Given the description of an element on the screen output the (x, y) to click on. 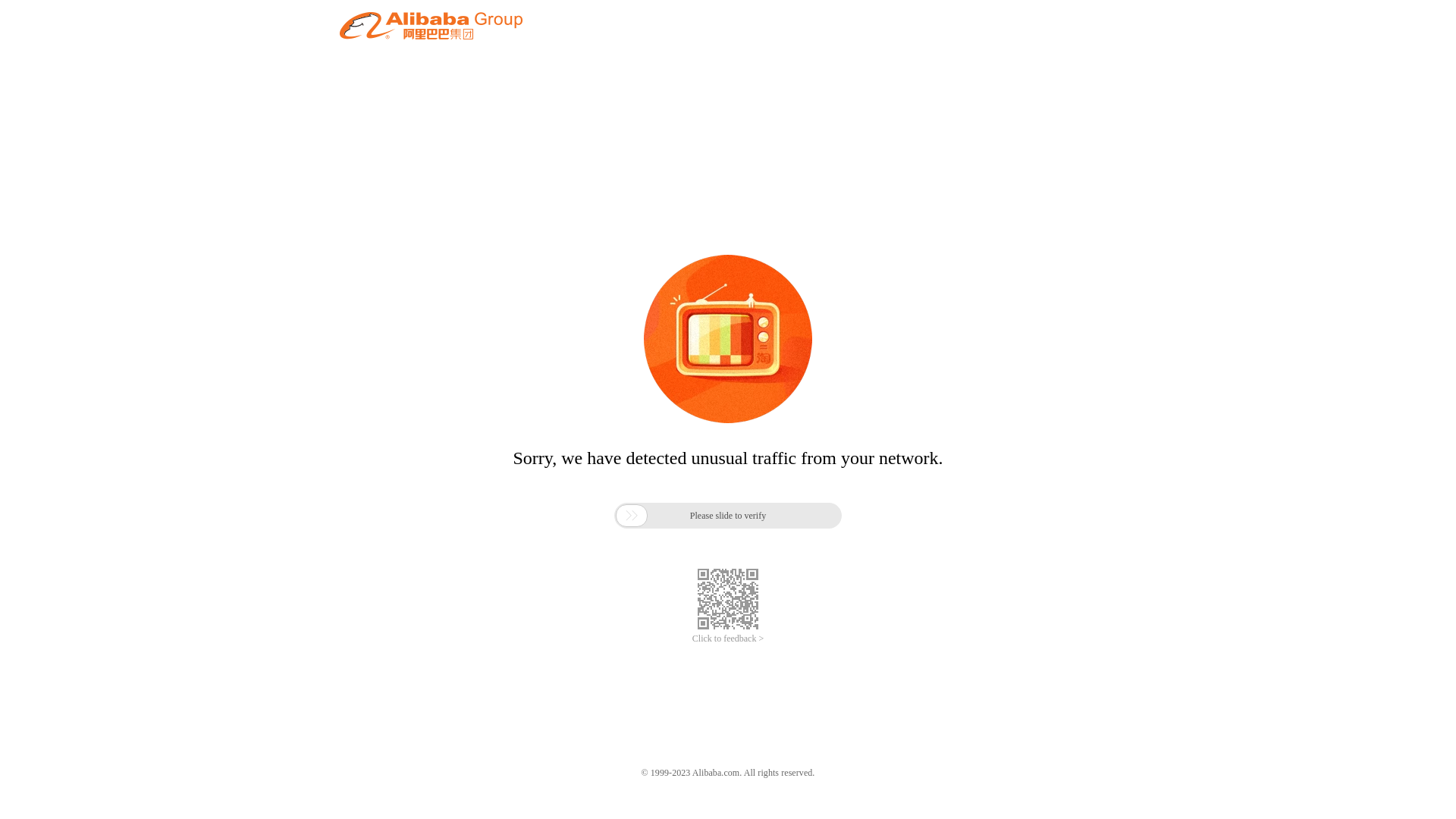
Click to feedback > Element type: text (727, 638)
